Given the description of an element on the screen output the (x, y) to click on. 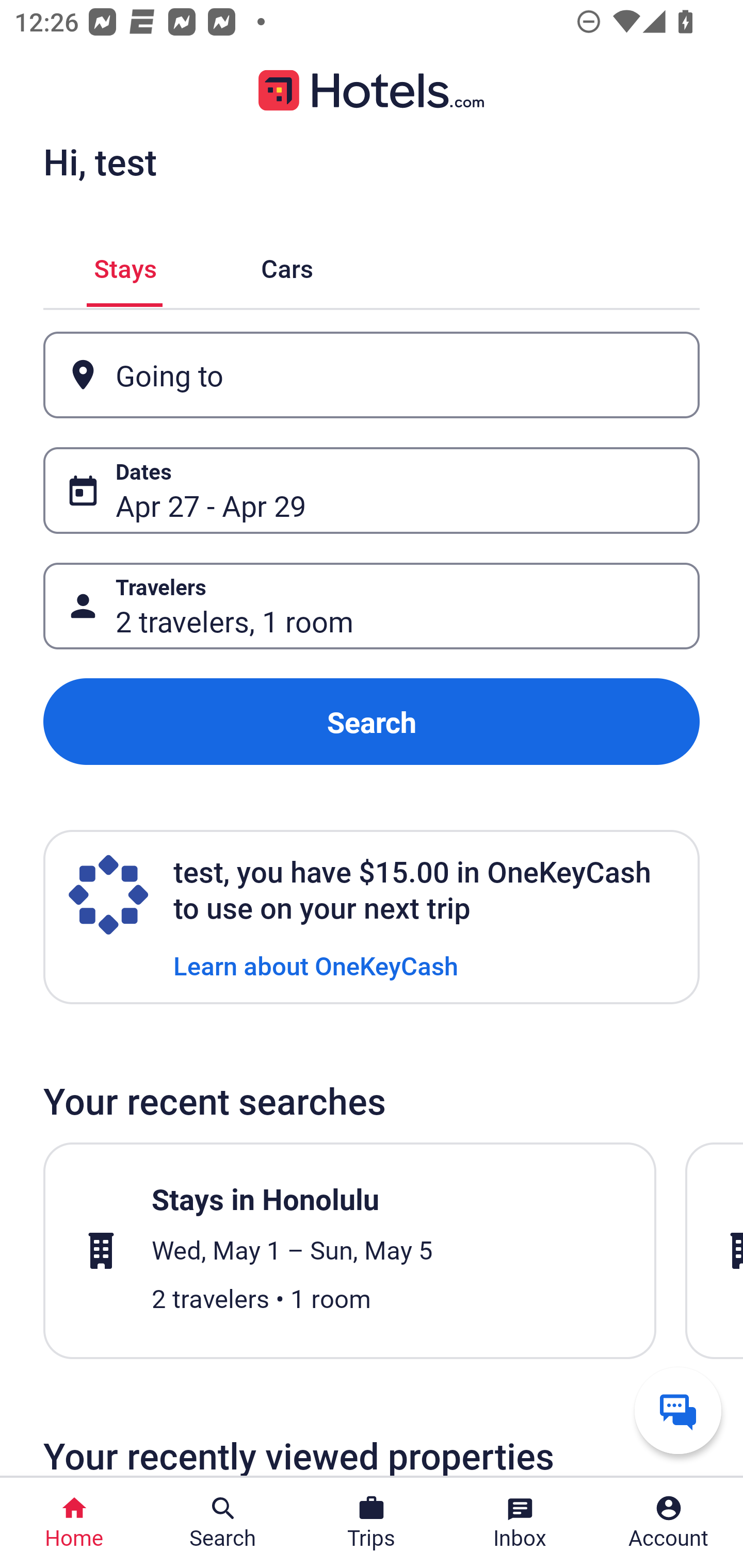
Hi, test (99, 161)
Cars (286, 265)
Going to Button (371, 375)
Dates Button Apr 27 - Apr 29 (371, 489)
Travelers Button 2 travelers, 1 room (371, 605)
Search (371, 721)
Learn about OneKeyCash Learn about OneKeyCash Link (315, 964)
Get help from a virtual agent (677, 1410)
Search Search Button (222, 1522)
Trips Trips Button (371, 1522)
Inbox Inbox Button (519, 1522)
Account Profile. Button (668, 1522)
